Given the description of an element on the screen output the (x, y) to click on. 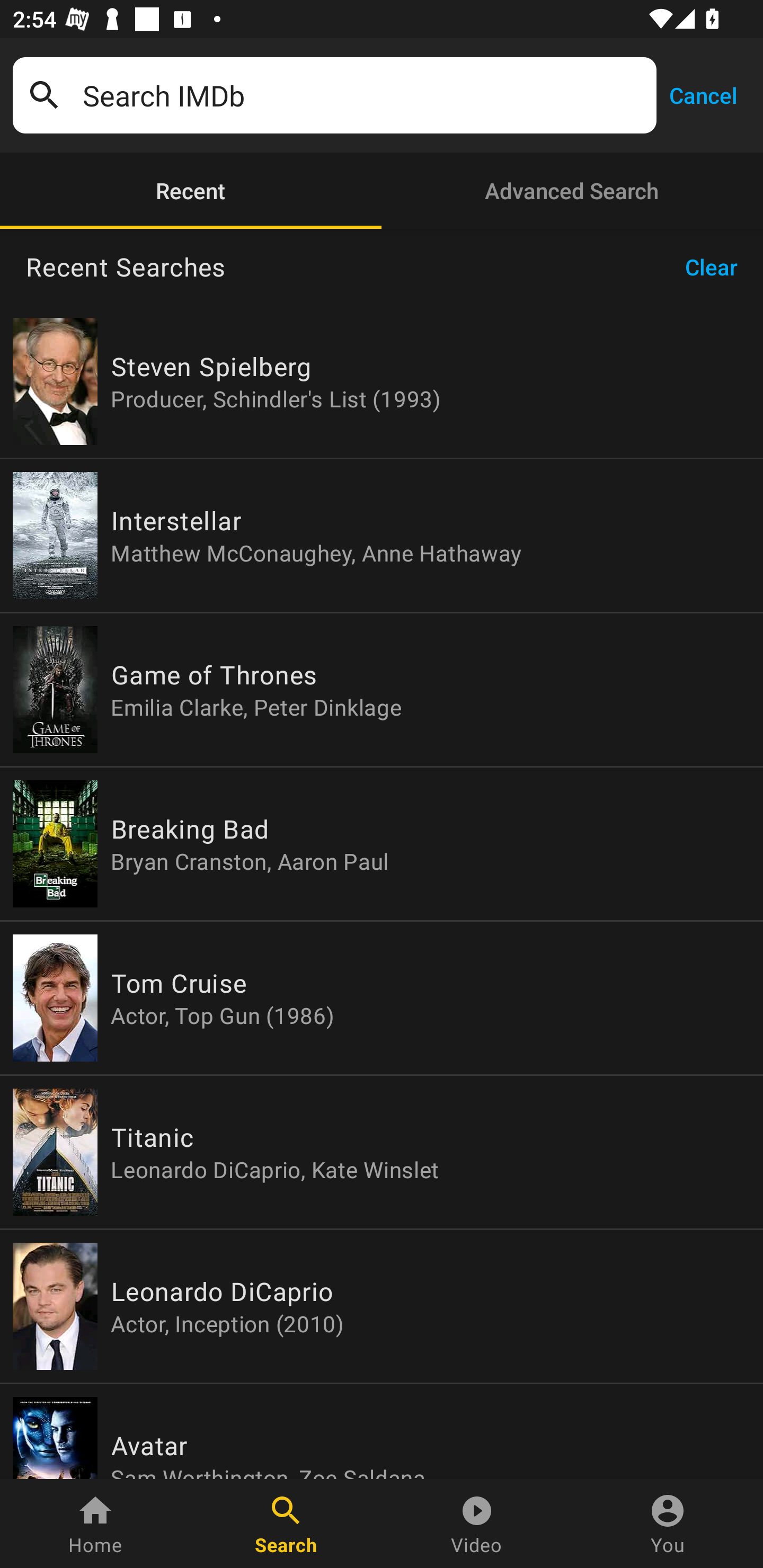
Cancel (703, 94)
Search IMDb (363, 95)
Advanced Search (572, 190)
Clear (717, 266)
Steven Spielberg Producer, Schindler's List (1993) (381, 381)
Interstellar Matthew McConaughey, Anne Hathaway (381, 535)
Game of Thrones Emilia Clarke, Peter Dinklage (381, 689)
Breaking Bad Bryan Cranston, Aaron Paul (381, 844)
Tom Cruise Actor, Top Gun (1986) (381, 997)
Titanic Leonardo DiCaprio, Kate Winslet (381, 1151)
Leonardo DiCaprio Actor, Inception (2010) (381, 1305)
Avatar Sam Worthington, Zoe Saldana (381, 1431)
Home (95, 1523)
Video (476, 1523)
You (667, 1523)
